Given the description of an element on the screen output the (x, y) to click on. 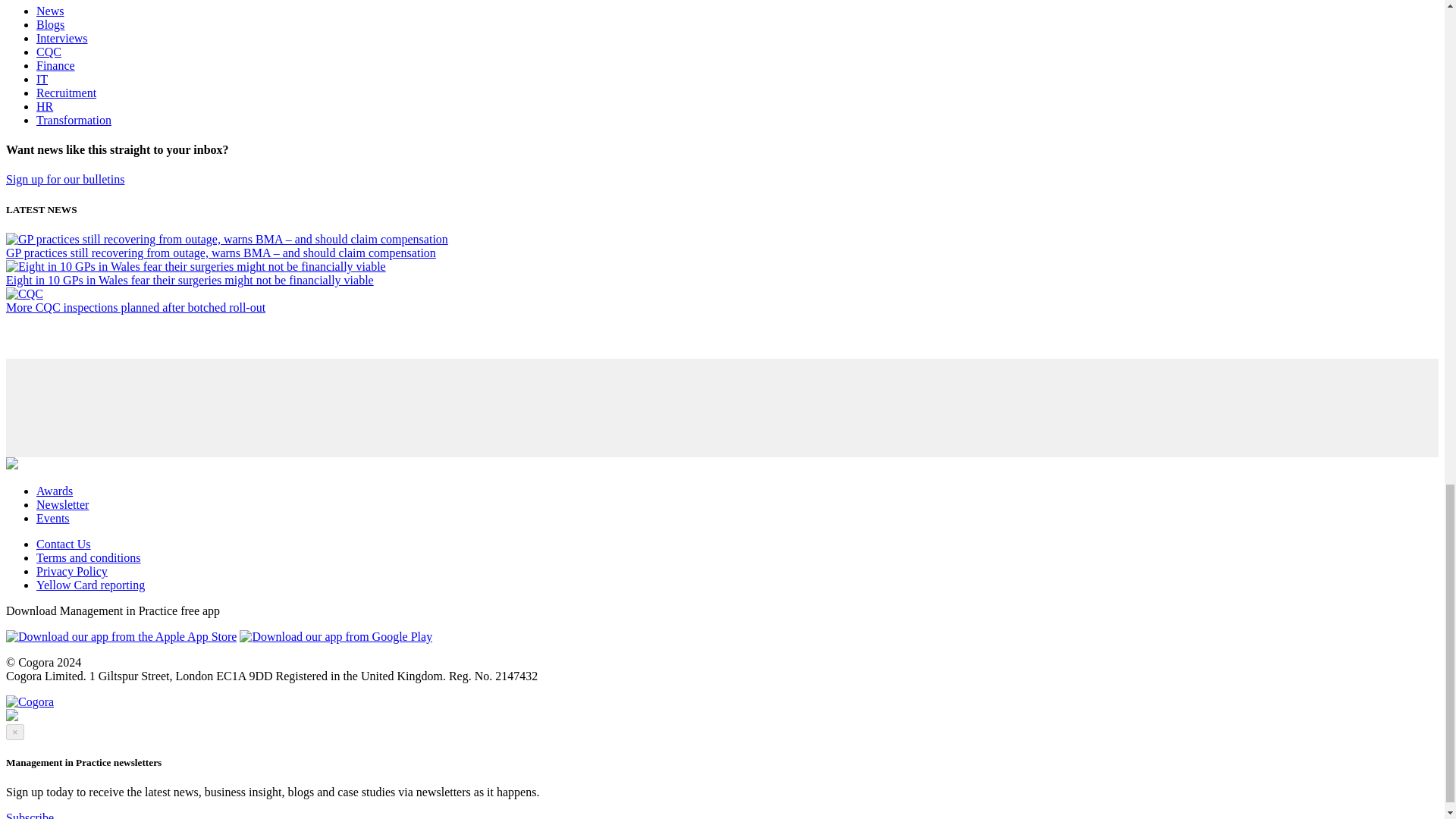
Download our app from Google Play (336, 636)
Download our app from the Apple App Store (120, 636)
Sign up for our bulletins (64, 178)
